Given the description of an element on the screen output the (x, y) to click on. 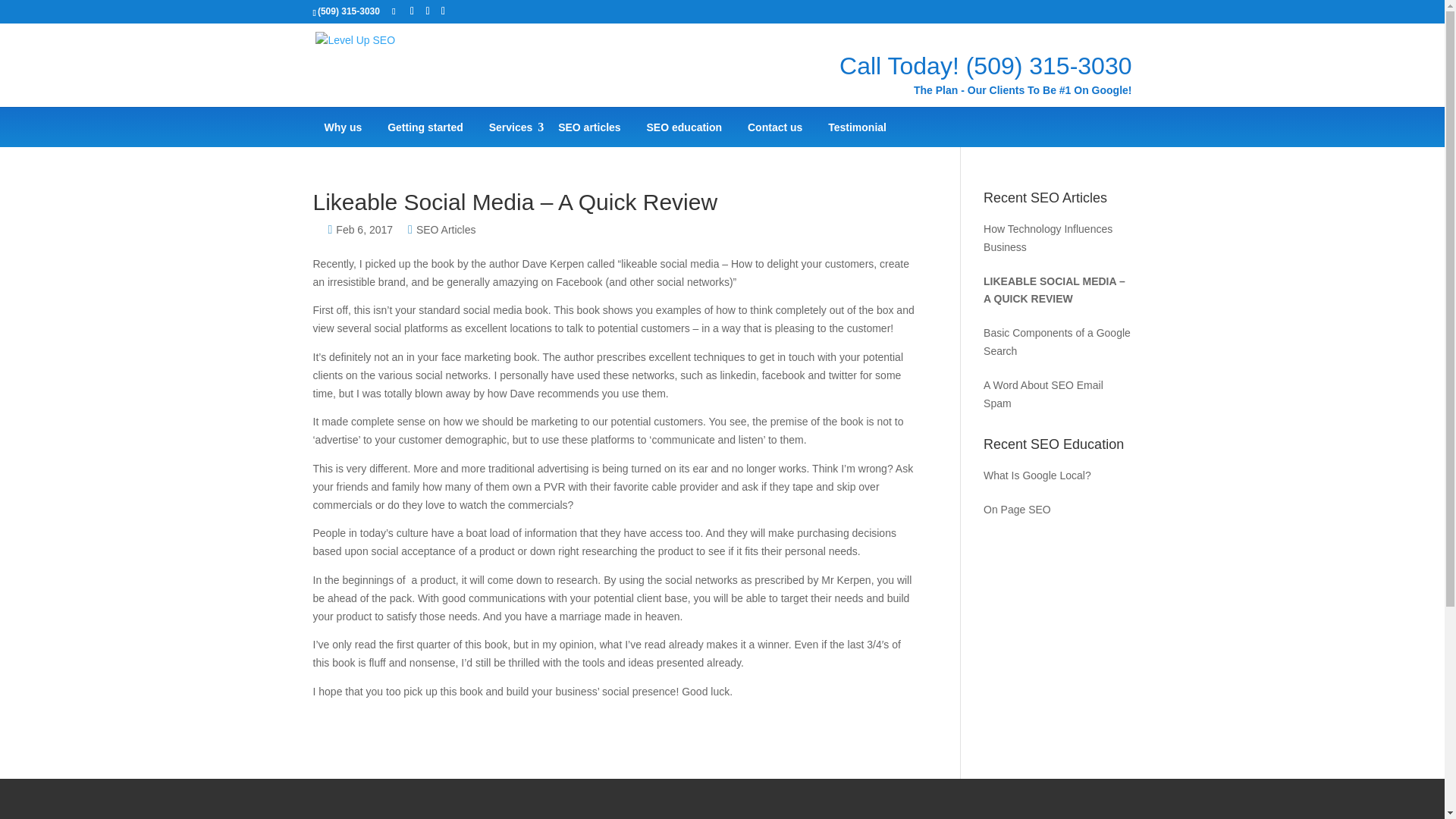
Contact us (774, 127)
SEO Articles (446, 229)
SEO education (683, 127)
A Word About SEO Email Spam (1057, 394)
On Page SEO (1057, 510)
Basic Components of a Google Search (1057, 342)
How Technology Influences Business (1057, 238)
Why us (342, 127)
SEO articles (589, 127)
What Is Google Local? (1057, 475)
